Given the description of an element on the screen output the (x, y) to click on. 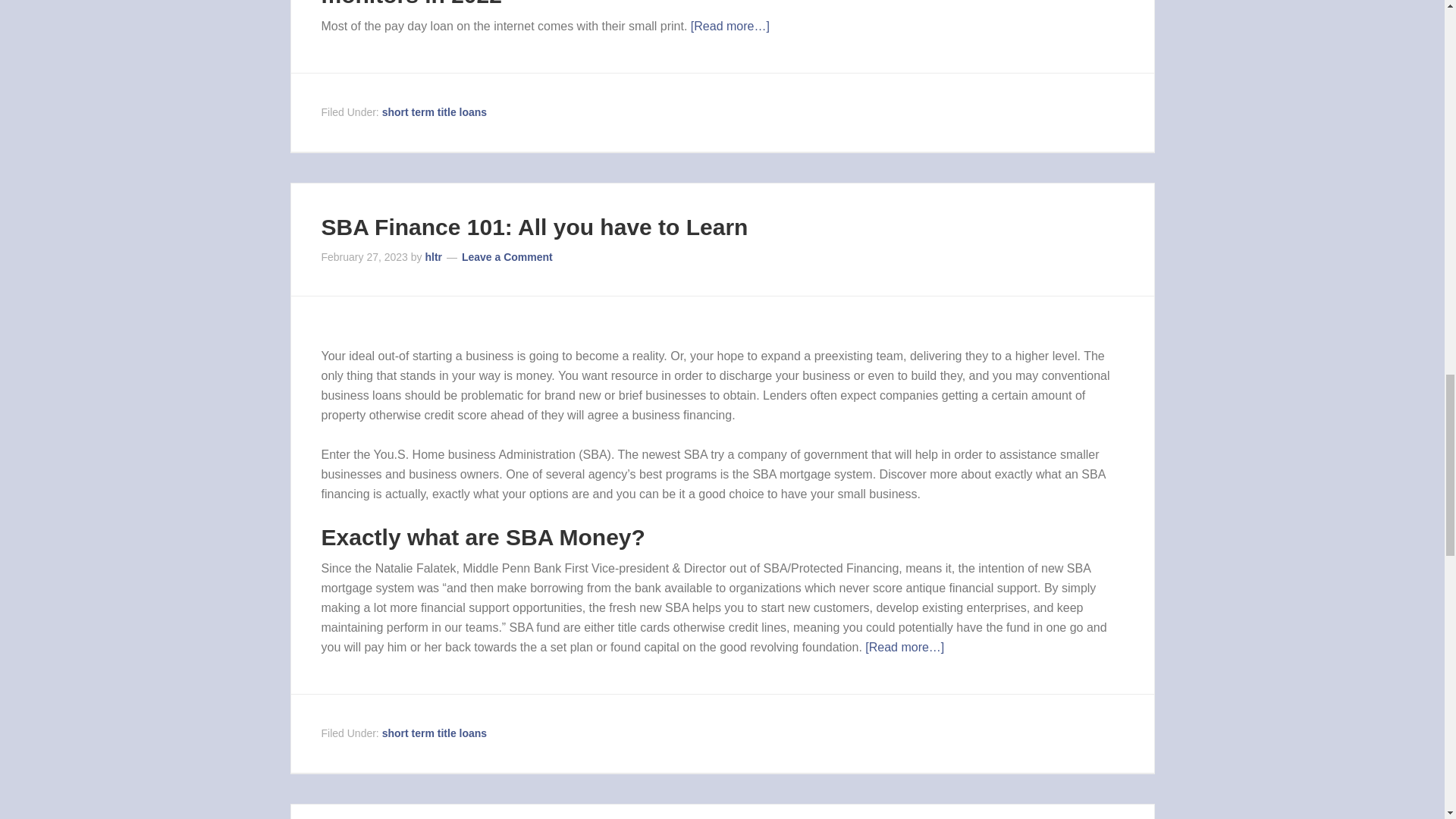
SBA Finance 101: All you have to Learn (534, 226)
Leave a Comment (507, 256)
short term title loans (433, 111)
hltr (433, 256)
short term title loans (433, 733)
